Given the description of an element on the screen output the (x, y) to click on. 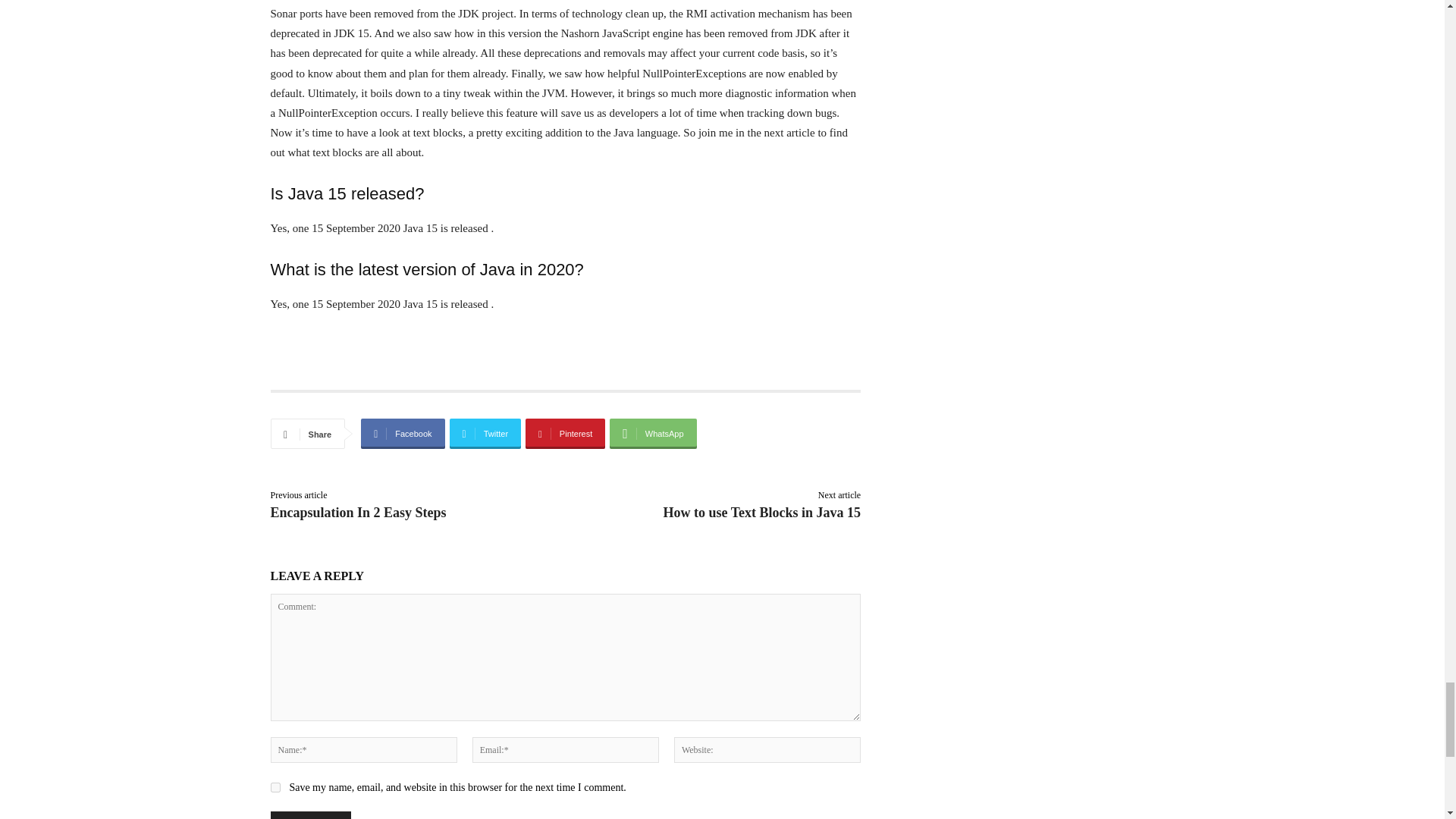
Post Comment (309, 815)
yes (274, 787)
